Given the description of an element on the screen output the (x, y) to click on. 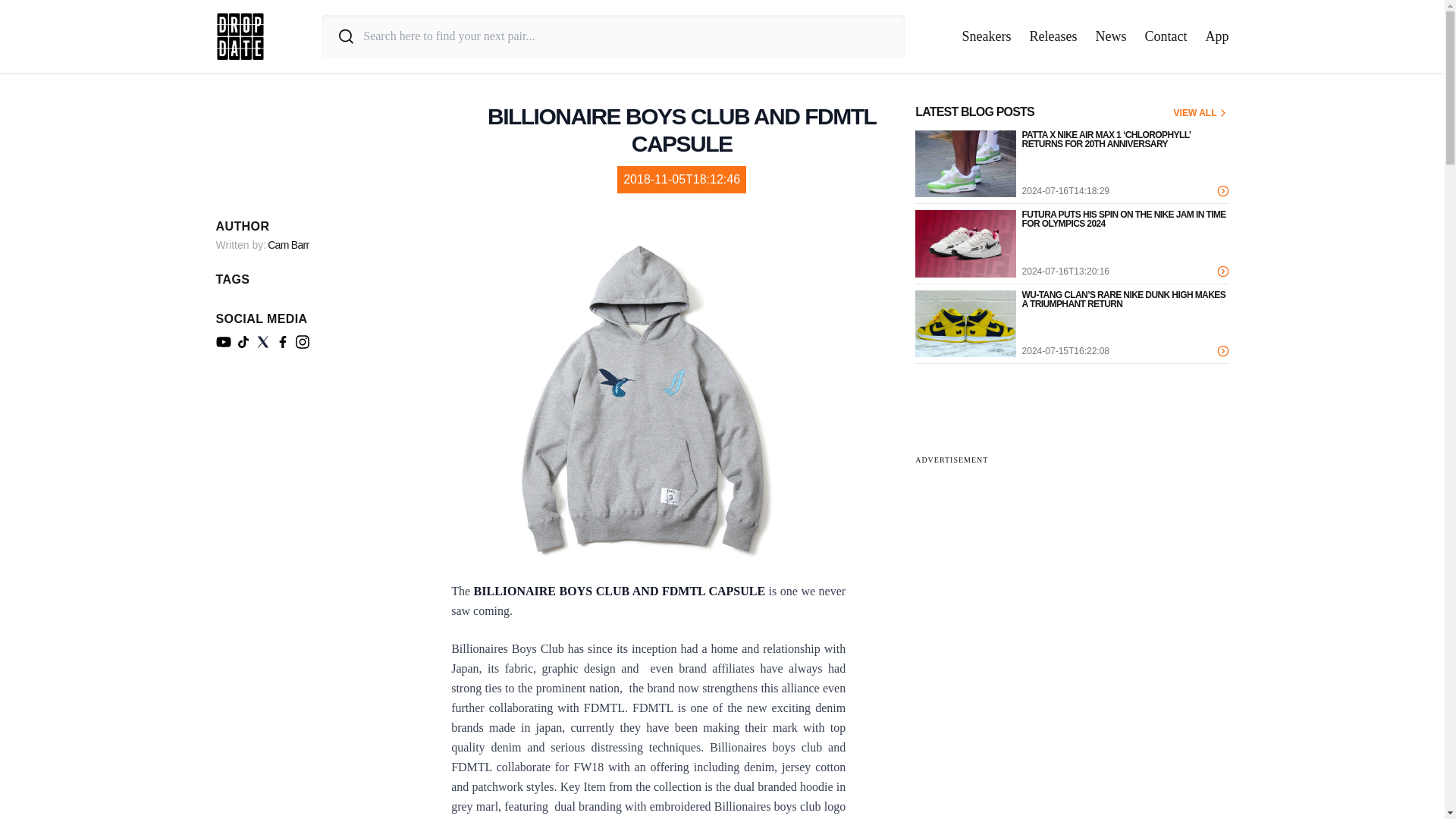
News (1109, 36)
Contact (1166, 36)
Releases (1053, 36)
VIEW ALL (1200, 112)
App (1216, 36)
Sneakers (986, 36)
